Given the description of an element on the screen output the (x, y) to click on. 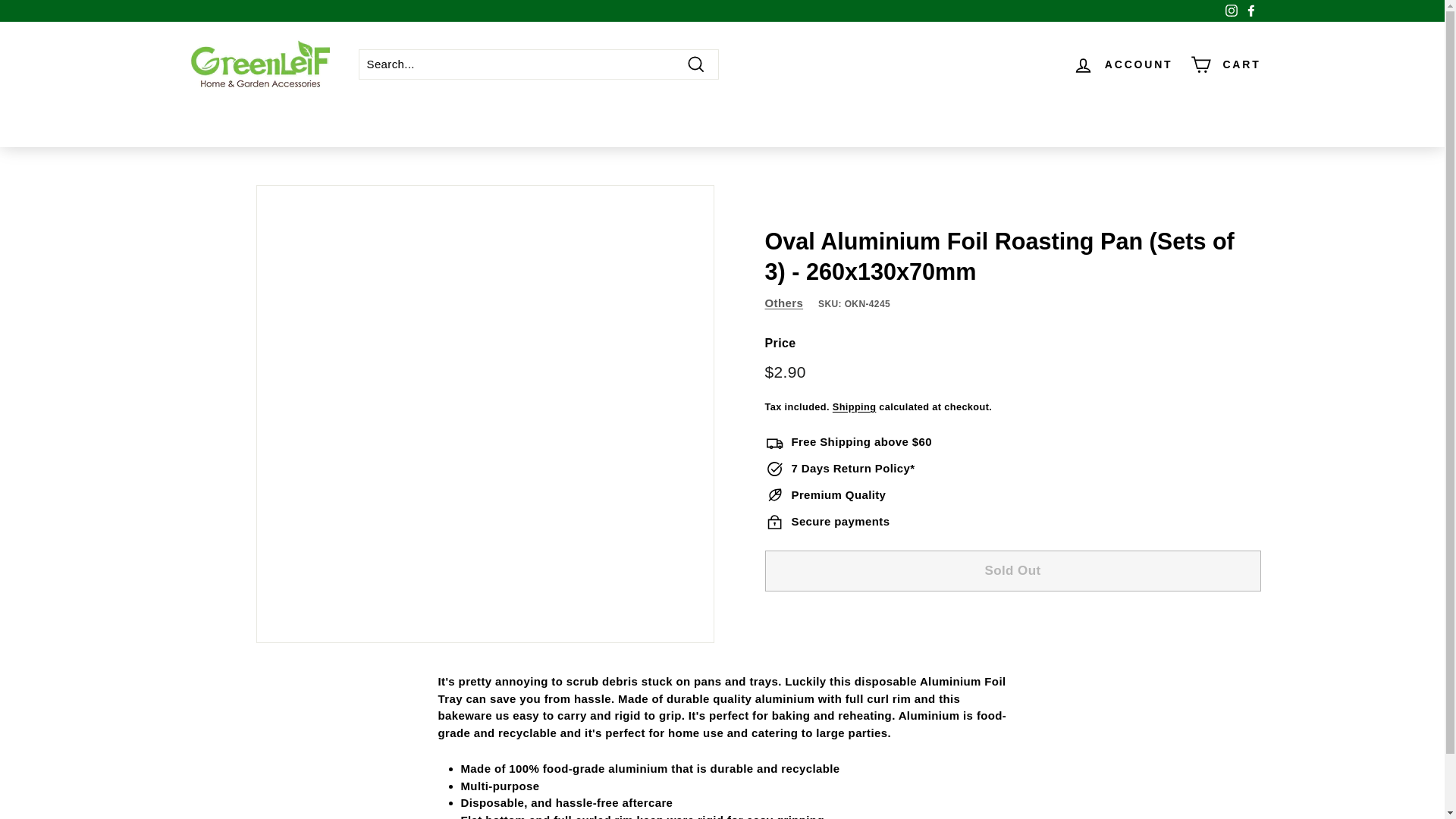
greenleif.sg on Instagram (1230, 11)
Instagram (1230, 11)
greenleif.sg on Facebook (1250, 11)
ACCOUNT (1123, 64)
Others (783, 302)
Facebook (1250, 11)
